Given the description of an element on the screen output the (x, y) to click on. 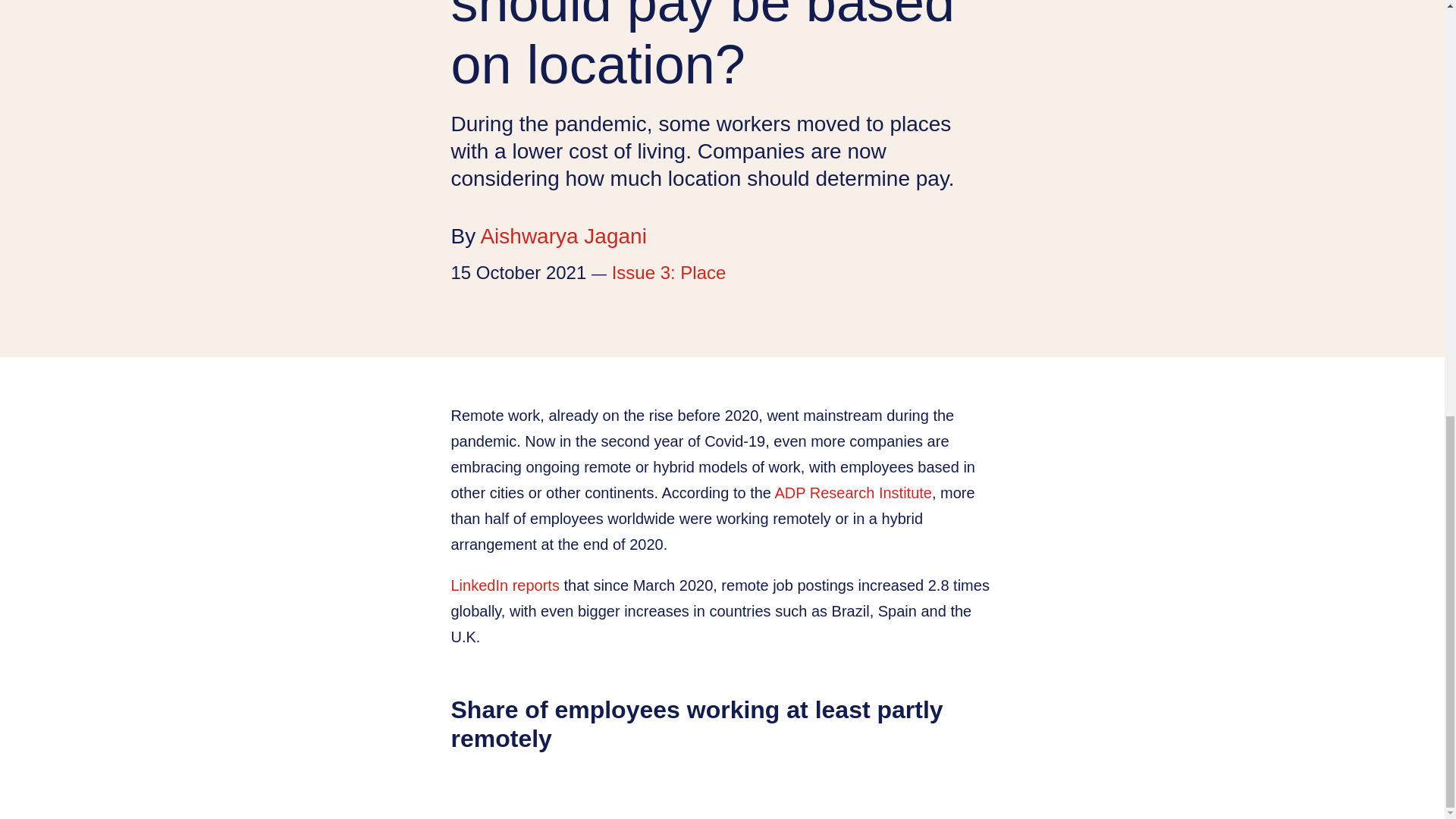
LinkedIn reports (504, 585)
ADP Research Institute (852, 492)
Issue 3: Place (668, 272)
Aishwarya Jagani (563, 236)
